Given the description of an element on the screen output the (x, y) to click on. 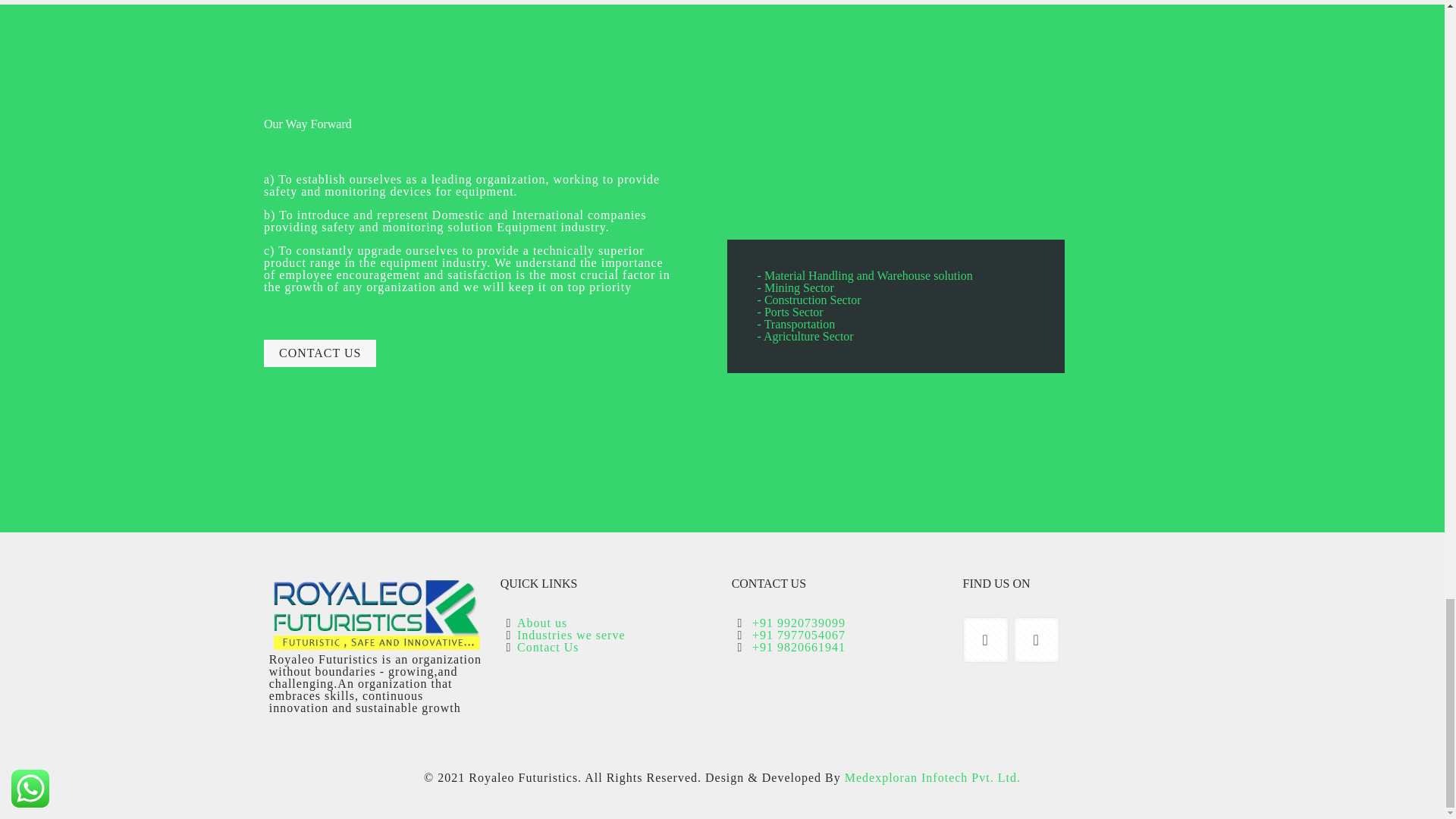
Contact Us (547, 646)
WhatsApp (702, 797)
Instagram (743, 797)
CONTACT US (319, 352)
About us (541, 622)
Facebook (722, 797)
Medexploran Infotech Pvt. Ltd. (932, 777)
Industries we serve (571, 634)
